Given the description of an element on the screen output the (x, y) to click on. 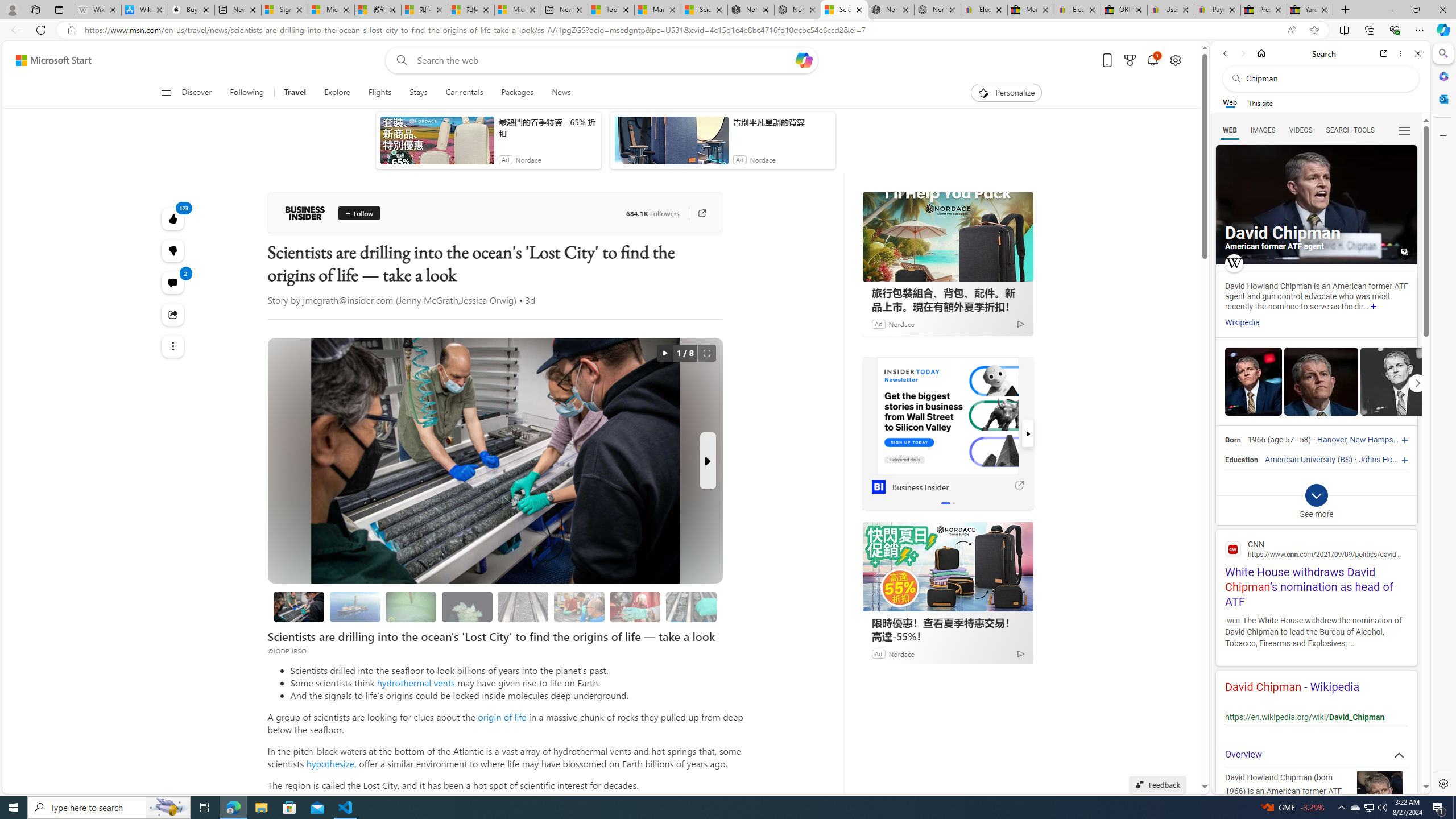
anim-content (671, 144)
Johns Hopkins University (1403, 460)
